Given the description of an element on the screen output the (x, y) to click on. 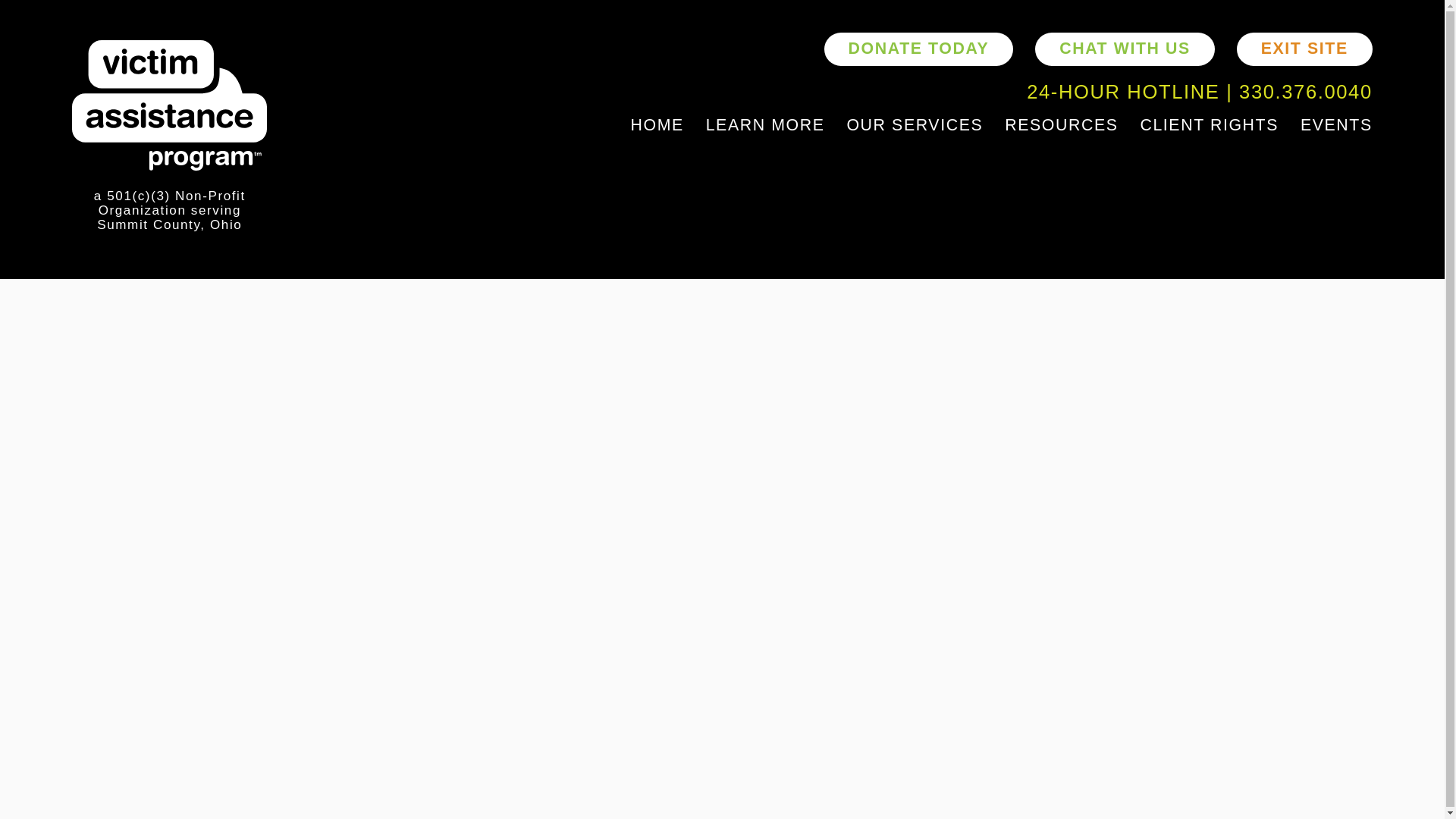
DONATE TODAY (918, 49)
EXIT SITE (1304, 49)
HOME (656, 125)
LEARN MORE (765, 125)
CHAT WITH US (1124, 49)
